Given the description of an element on the screen output the (x, y) to click on. 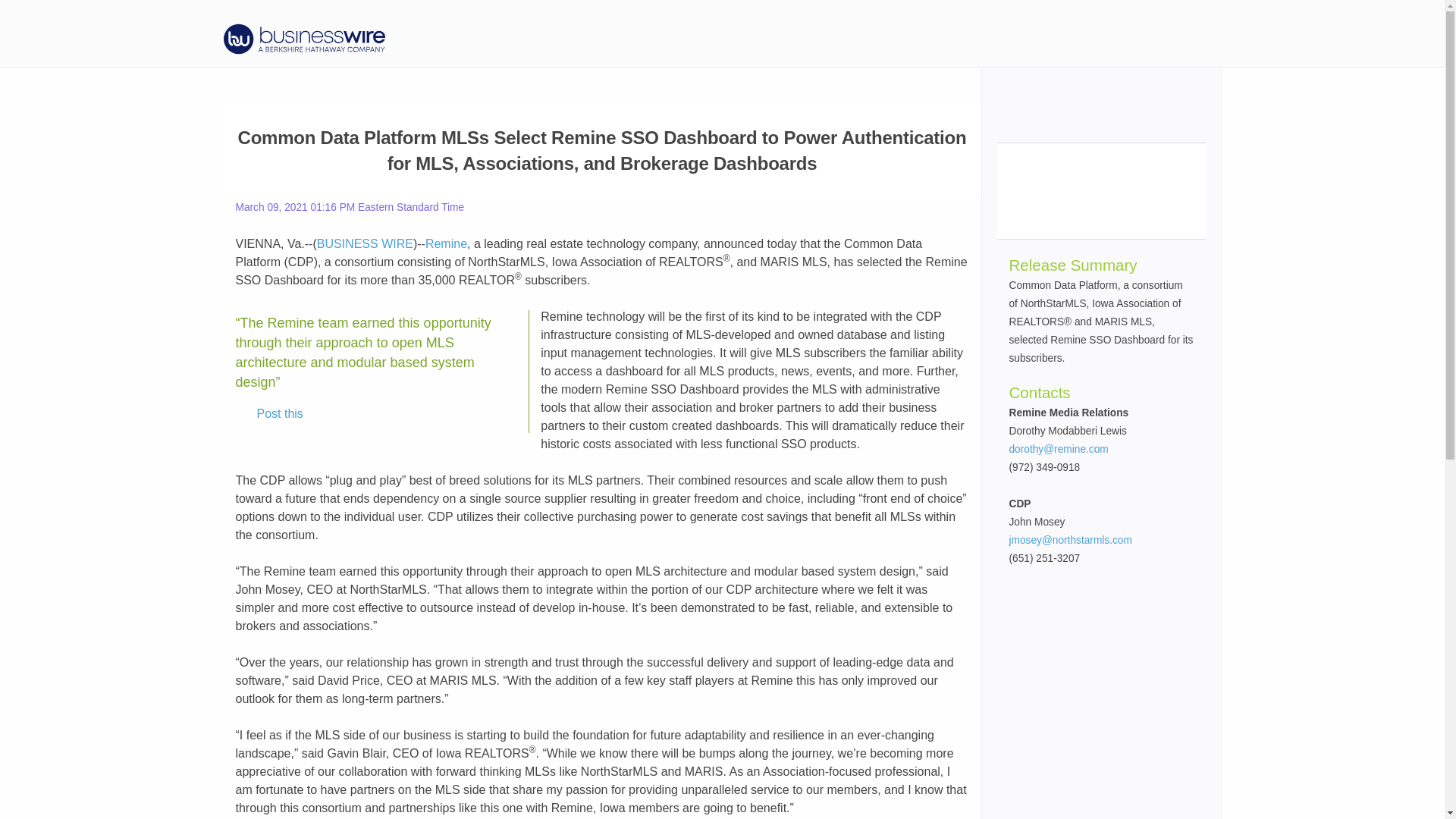
Post this (269, 413)
BUSINESS WIRE (365, 243)
Remine (446, 243)
